Given the description of an element on the screen output the (x, y) to click on. 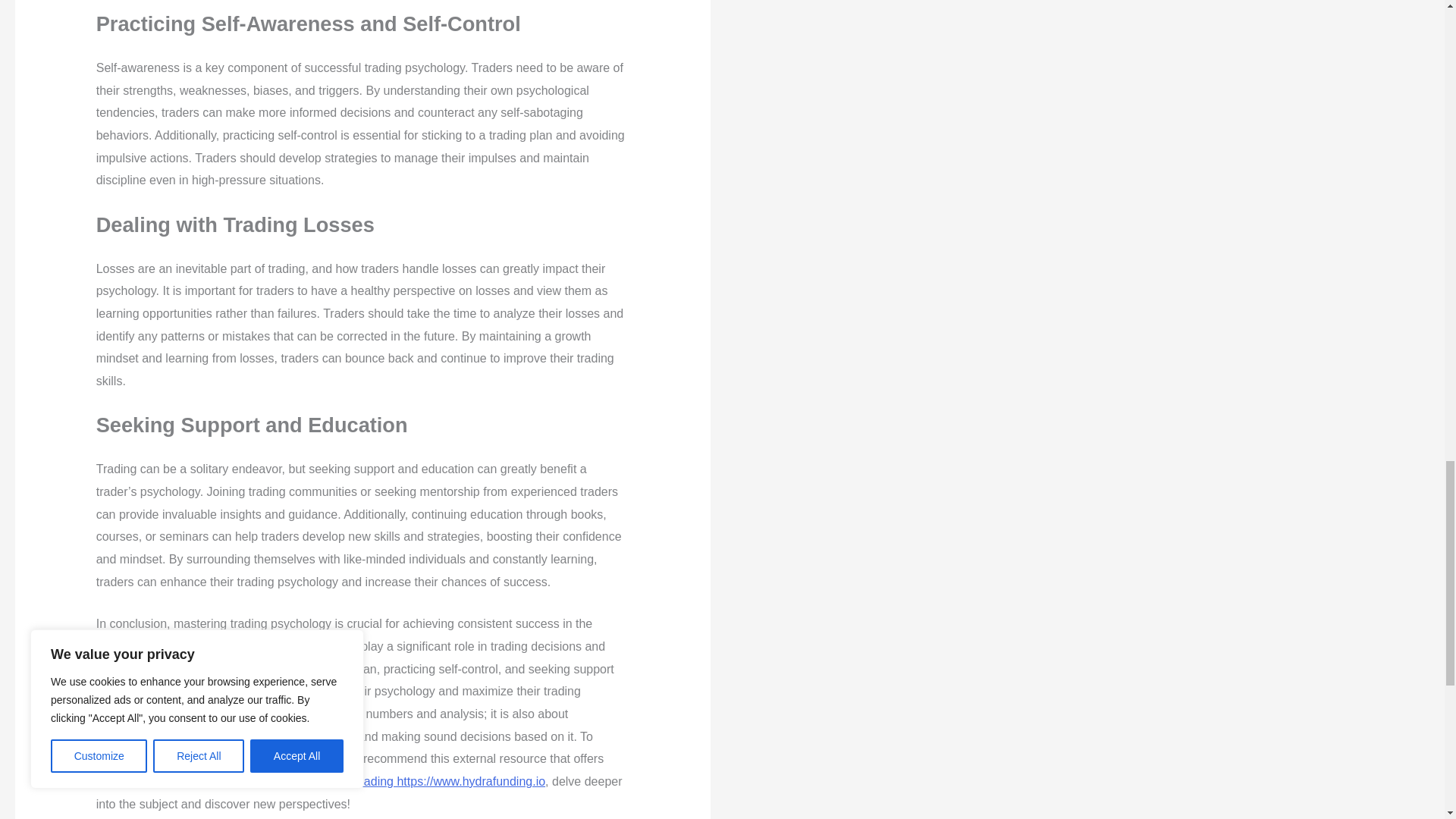
developing (202, 668)
